Given the description of an element on the screen output the (x, y) to click on. 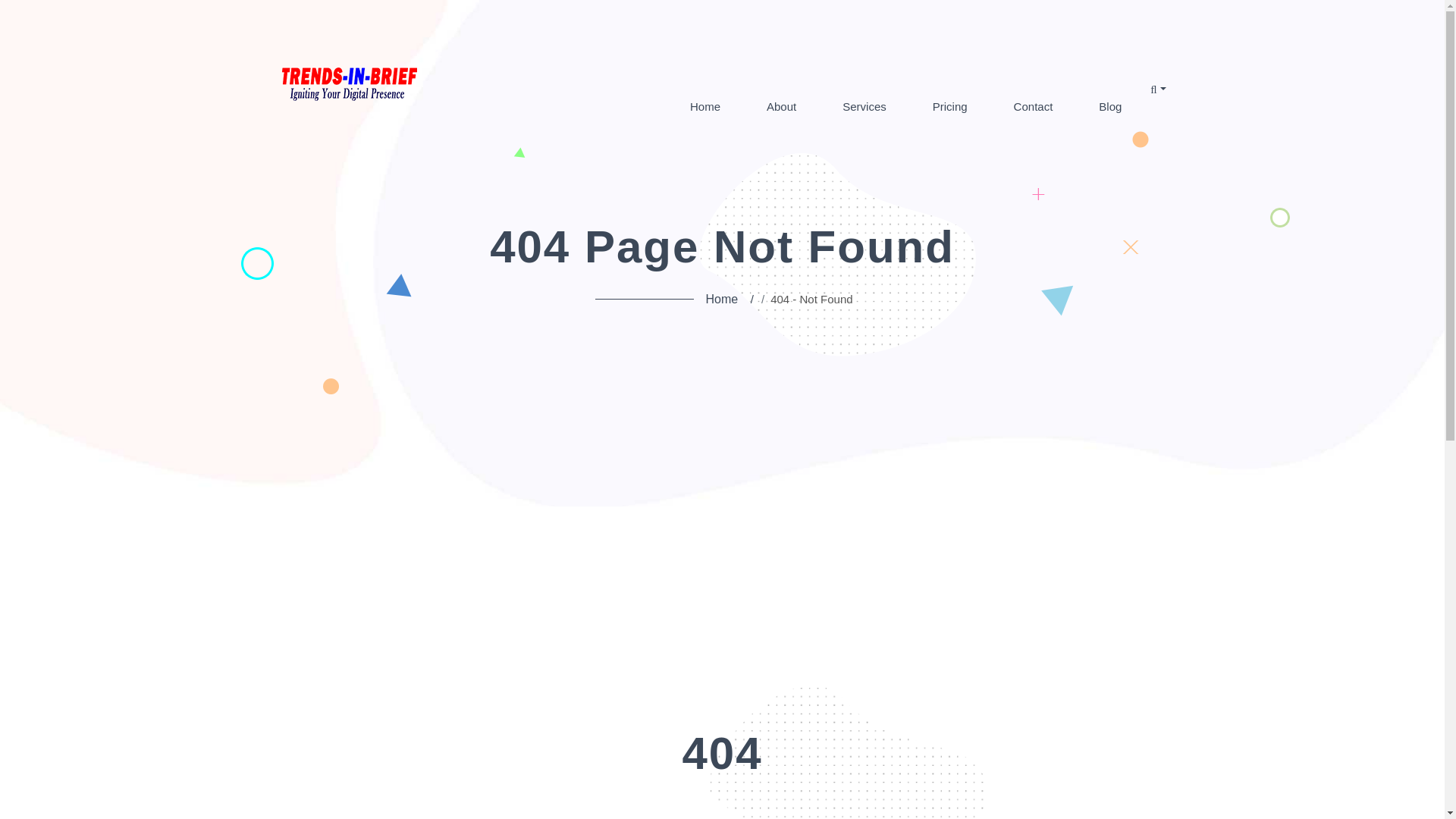
Trends In Brief (349, 82)
Services (864, 105)
Blog (1110, 105)
About (780, 105)
Blog (1110, 105)
Home   (724, 299)
Home (704, 105)
About (780, 105)
Home (704, 105)
Services (864, 105)
